Given the description of an element on the screen output the (x, y) to click on. 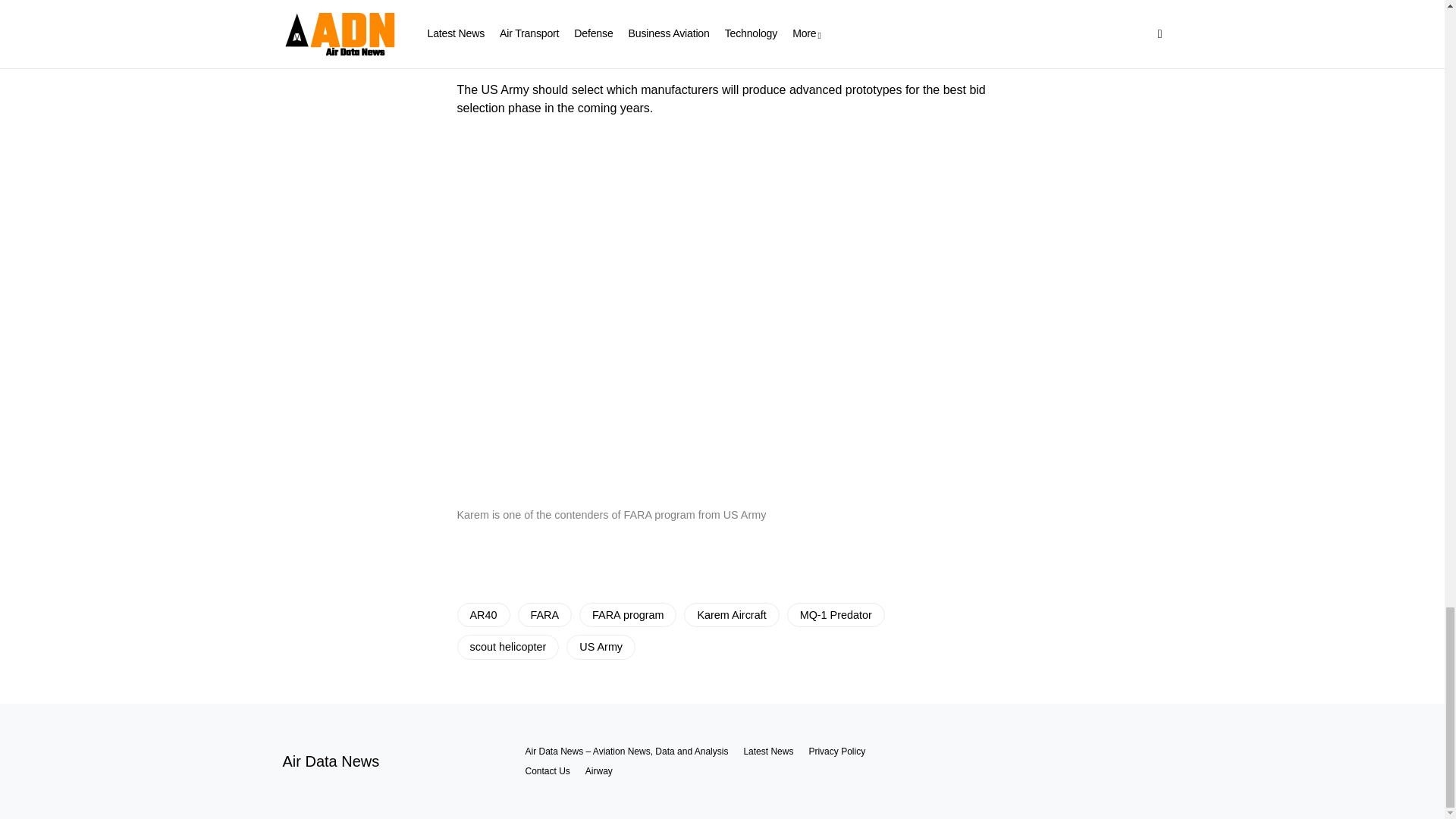
AR40 (483, 614)
FARA program (628, 614)
FARA (544, 614)
Karem Aircraft (731, 614)
